Given the description of an element on the screen output the (x, y) to click on. 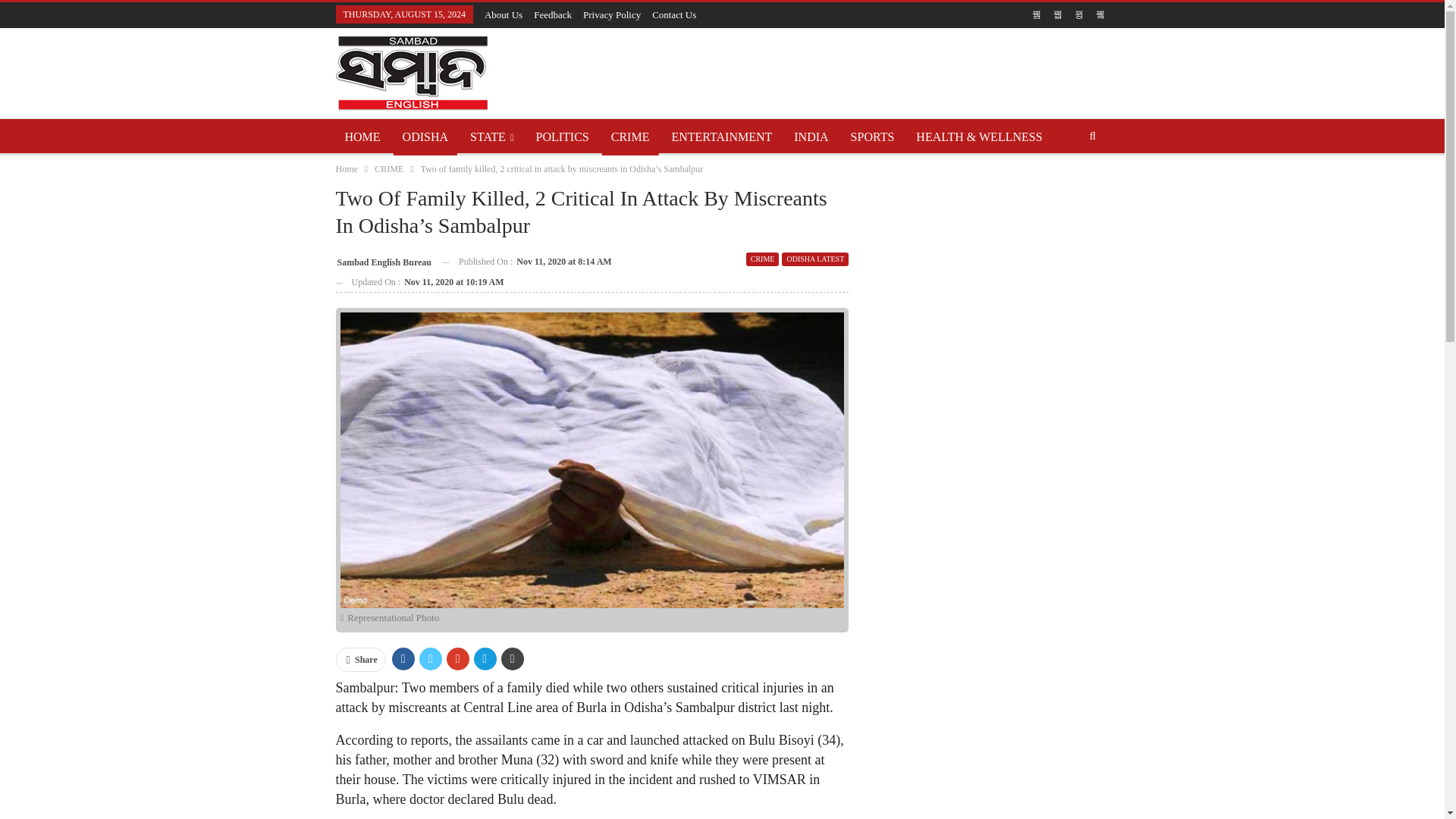
CRIME (761, 259)
POLITICS (562, 136)
ENTERTAINMENT (721, 136)
Browse Author Articles (382, 261)
Privacy Policy (611, 14)
Home (345, 168)
Sambad English Bureau (382, 261)
Feedback (553, 14)
STATE (491, 136)
Contact Us (673, 14)
